Given the description of an element on the screen output the (x, y) to click on. 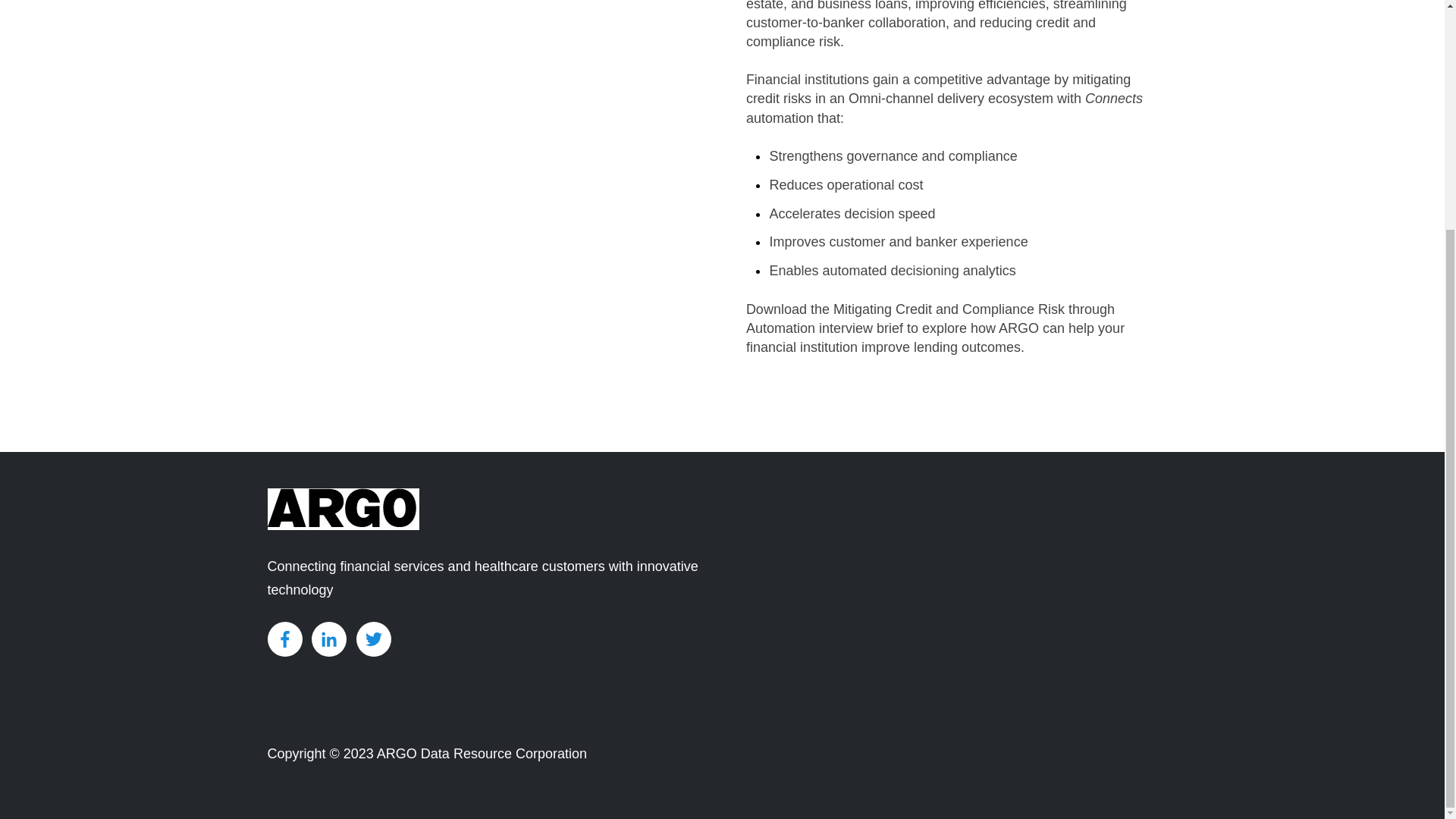
Page 6 (946, 140)
ARGO (342, 508)
